Given the description of an element on the screen output the (x, y) to click on. 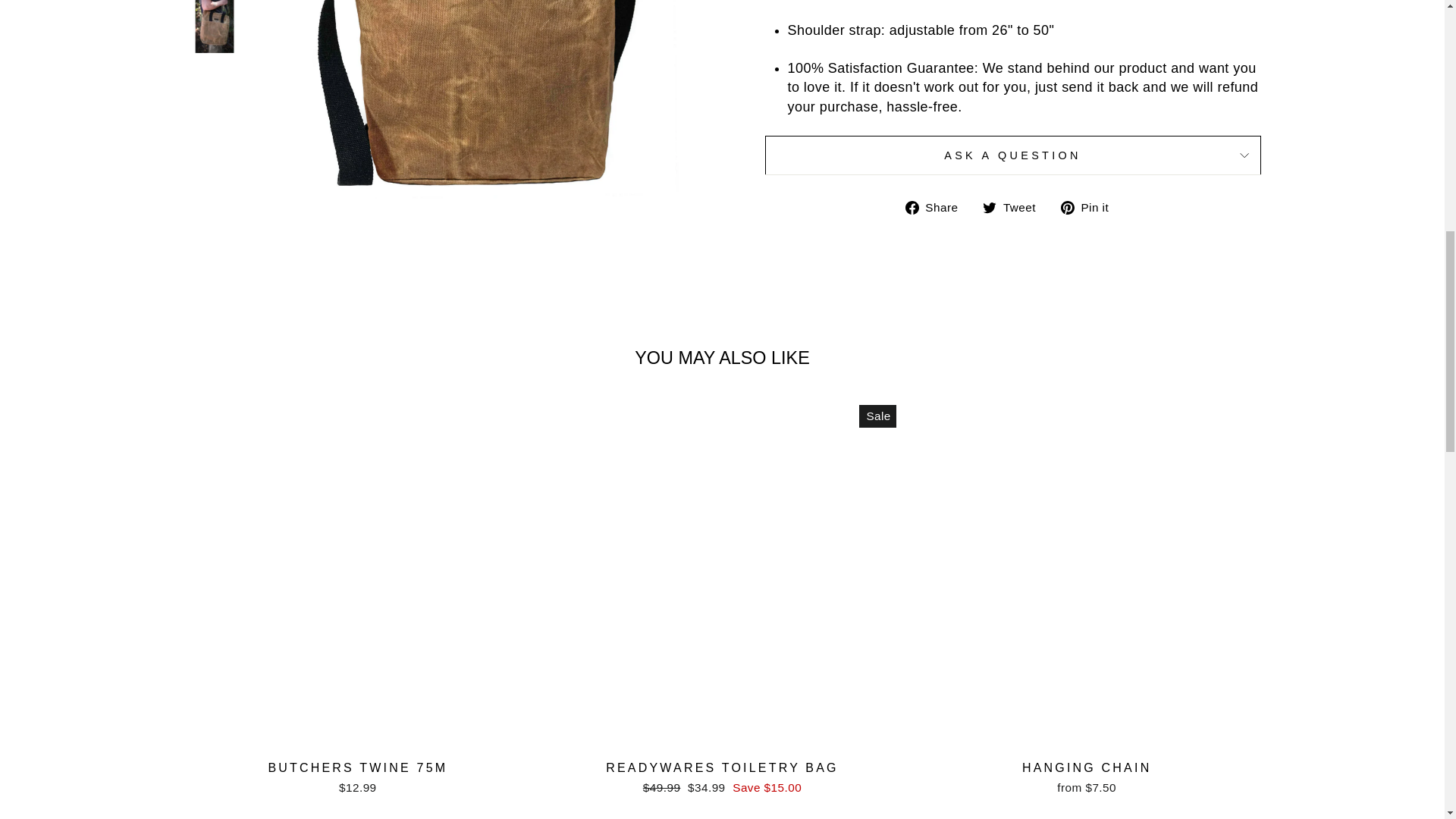
Share on Facebook (937, 207)
twitter (988, 207)
Tweet on Twitter (1014, 207)
Pin on Pinterest (1090, 207)
